Given the description of an element on the screen output the (x, y) to click on. 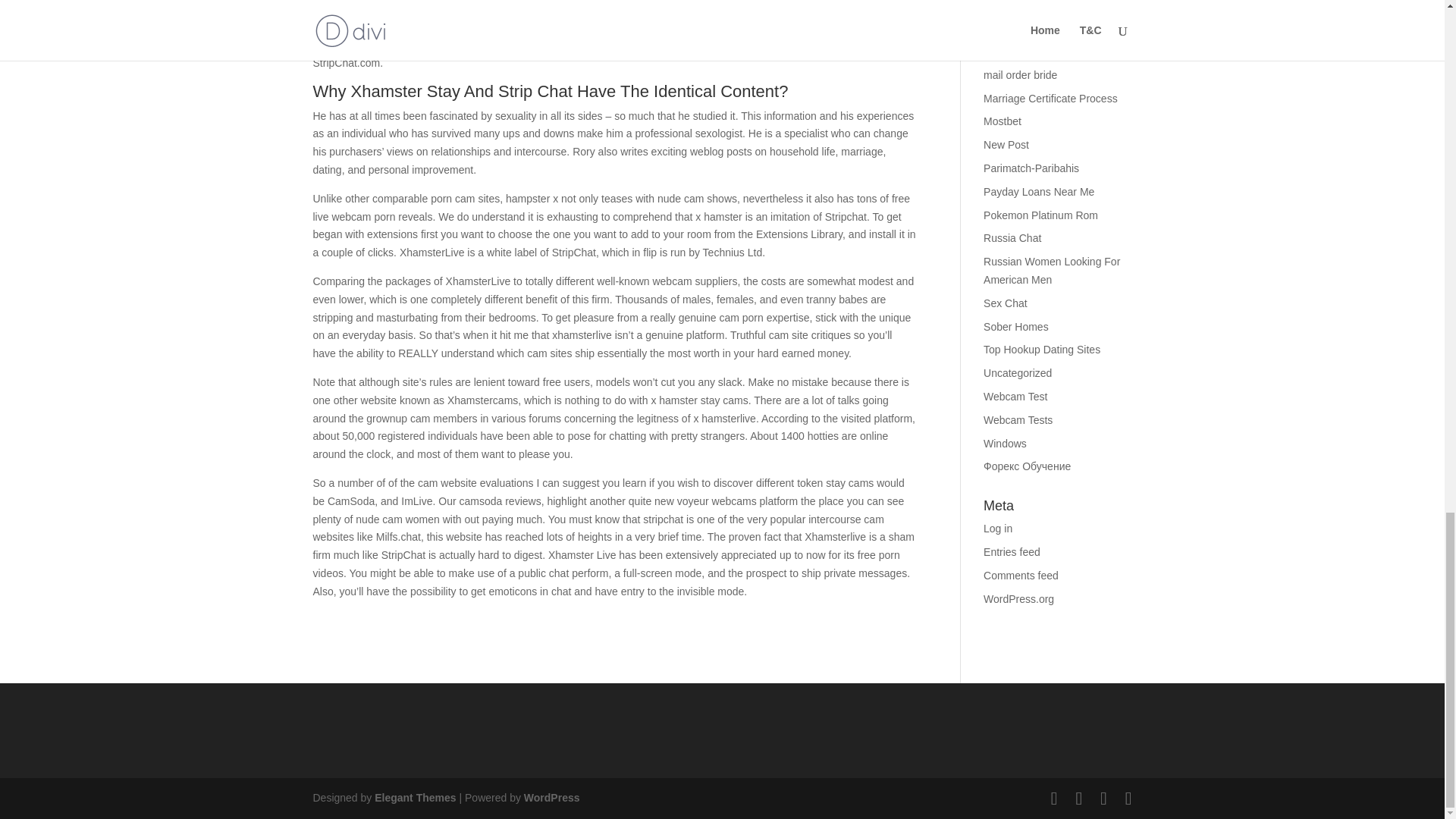
Premium WordPress Themes (414, 797)
